Given the description of an element on the screen output the (x, y) to click on. 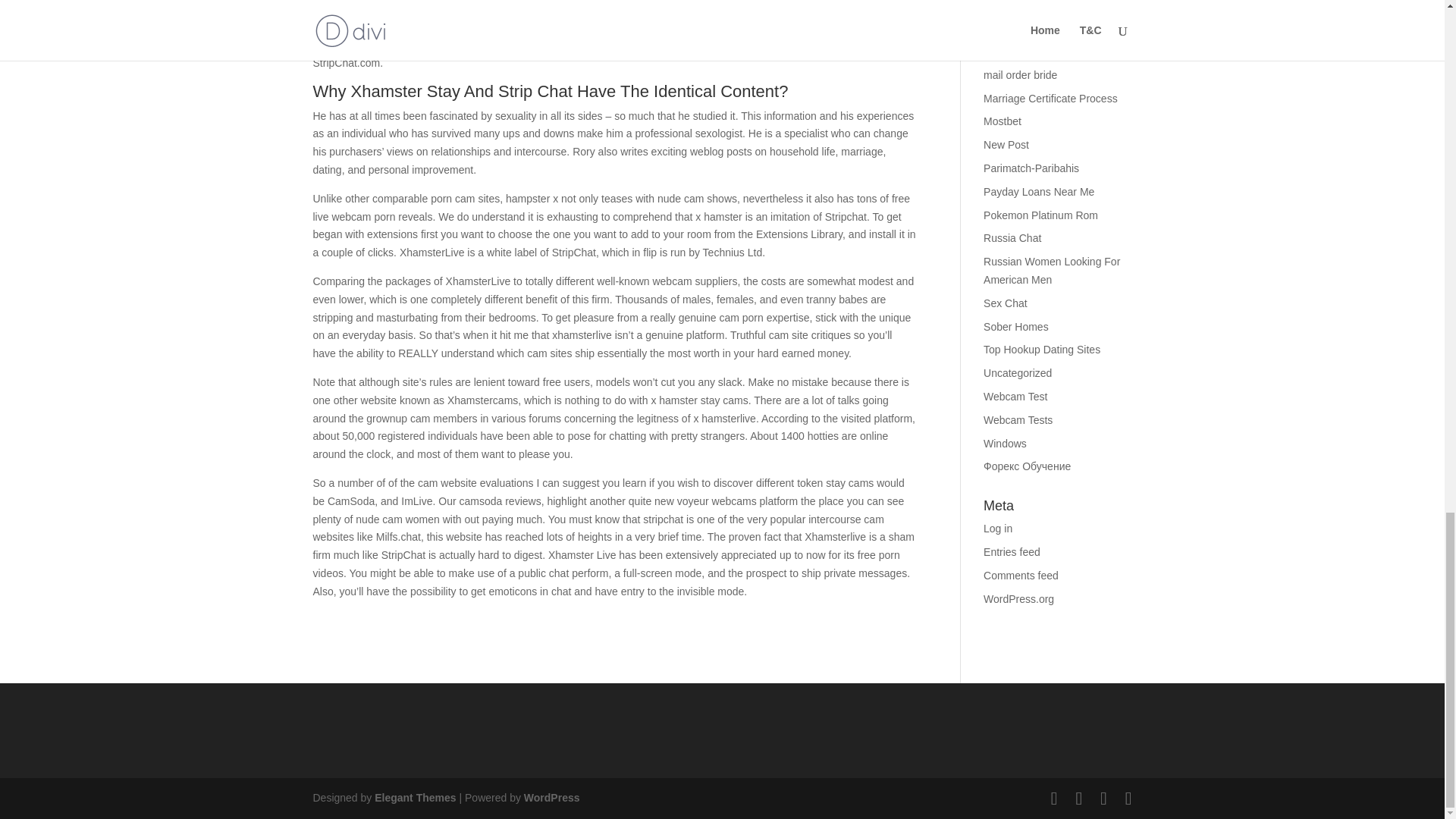
Premium WordPress Themes (414, 797)
